Given the description of an element on the screen output the (x, y) to click on. 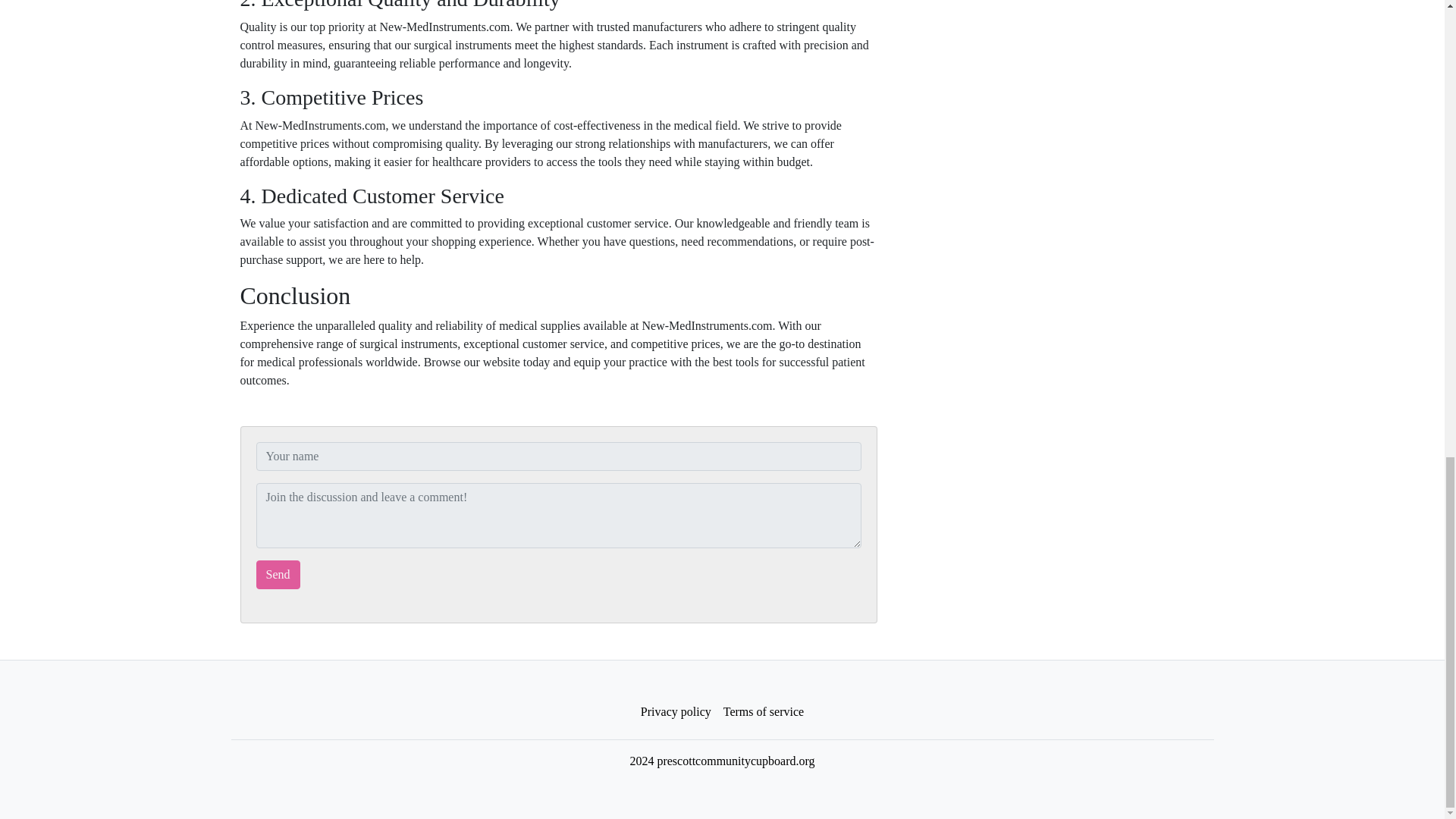
Send (277, 574)
Privacy policy (675, 711)
Terms of service (763, 711)
Send (277, 574)
